Given the description of an element on the screen output the (x, y) to click on. 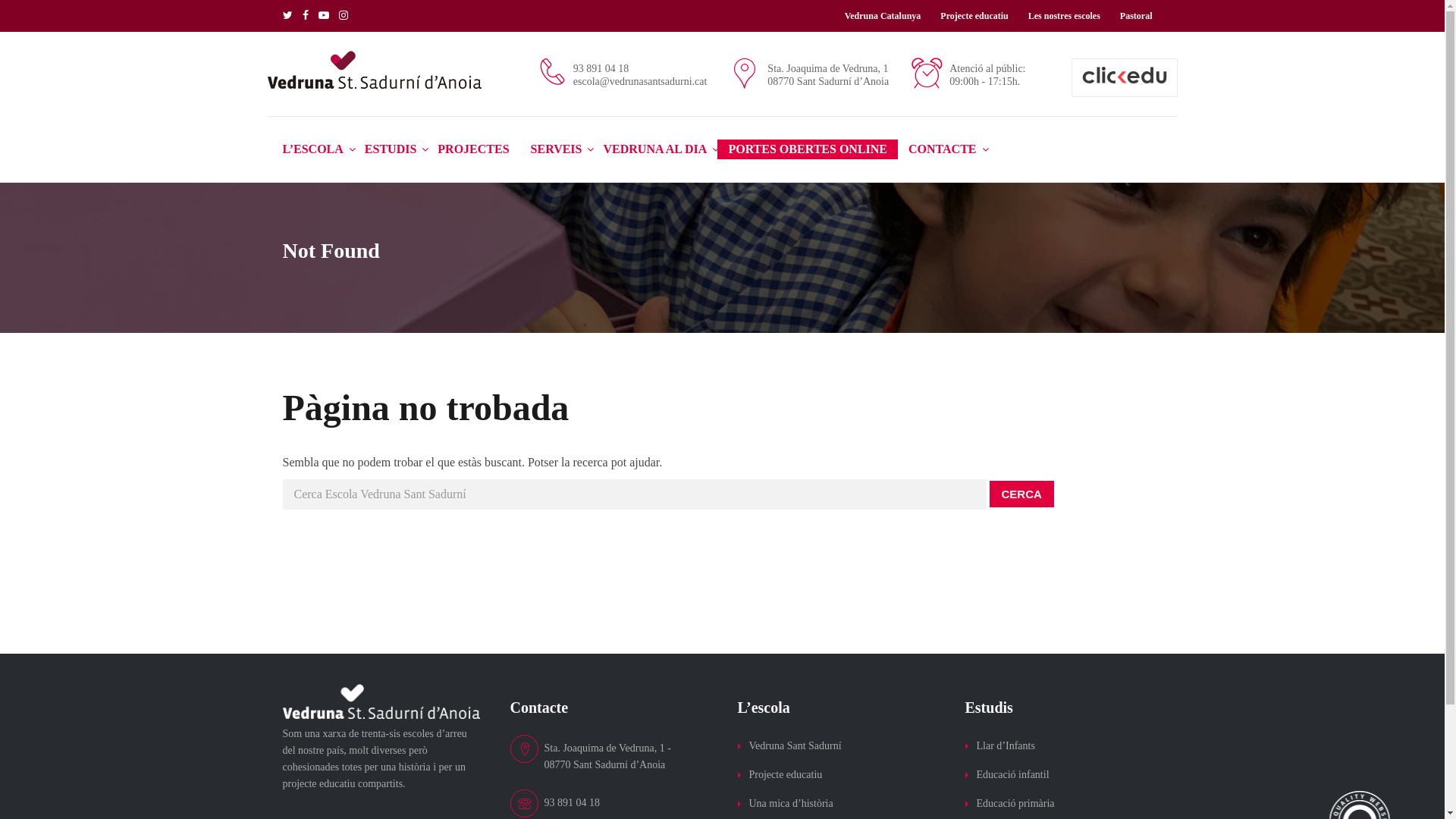
CERCA Element type: text (1020, 493)
ESTUDIS Element type: text (390, 149)
VEDRUNA AL DIA Element type: text (654, 149)
Projecte educatiu Element type: text (785, 774)
Projecte educatiu Element type: text (973, 15)
Vedruna Catalunya Element type: text (882, 15)
PROJECTES Element type: text (472, 149)
Pastoral Element type: text (1136, 15)
Les nostres escoles Element type: text (1064, 15)
SERVEIS Element type: text (556, 149)
PORTES OBERTES ONLINE Element type: text (807, 149)
CONTACTE Element type: text (942, 149)
